Given the description of an element on the screen output the (x, y) to click on. 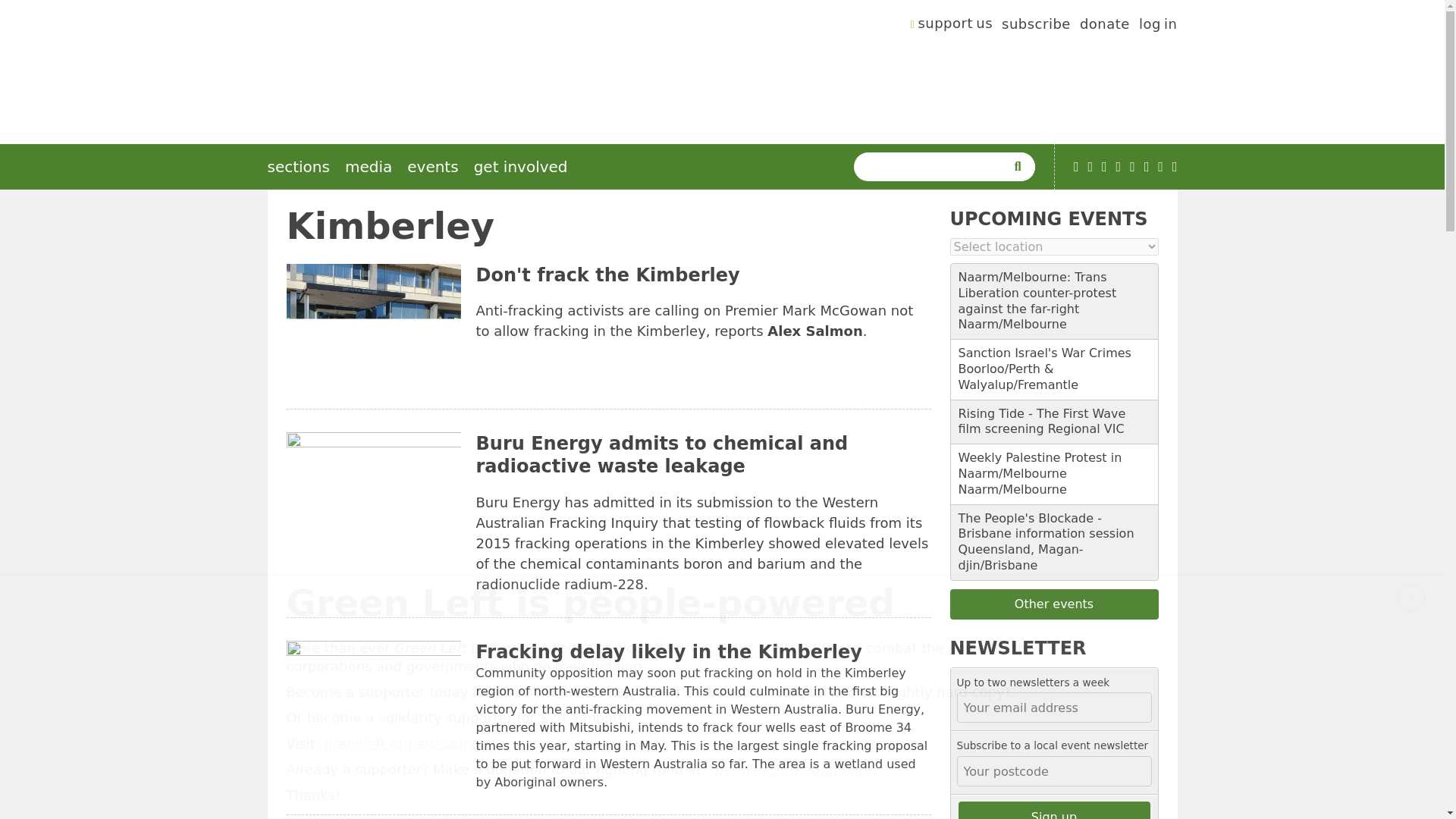
support us (951, 26)
events (432, 166)
subscribe (1035, 26)
donate (1104, 26)
Sign up (1054, 810)
Enter the terms you wish to search for. (932, 166)
log in (1157, 26)
